Given the description of an element on the screen output the (x, y) to click on. 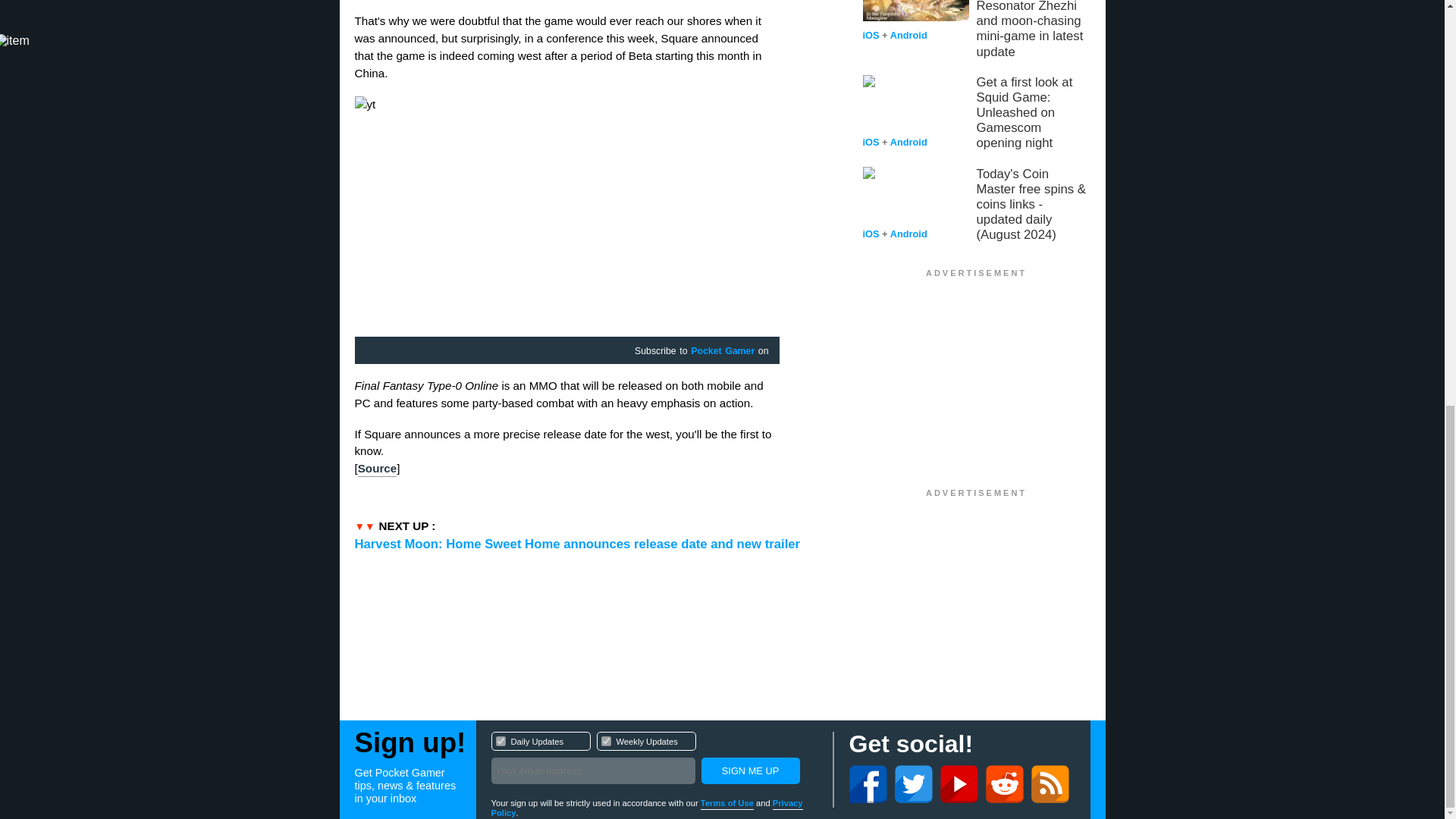
2 (604, 741)
Source (377, 468)
1 (500, 741)
Pocket Gamer (722, 351)
Sign Me Up (749, 770)
